Given the description of an element on the screen output the (x, y) to click on. 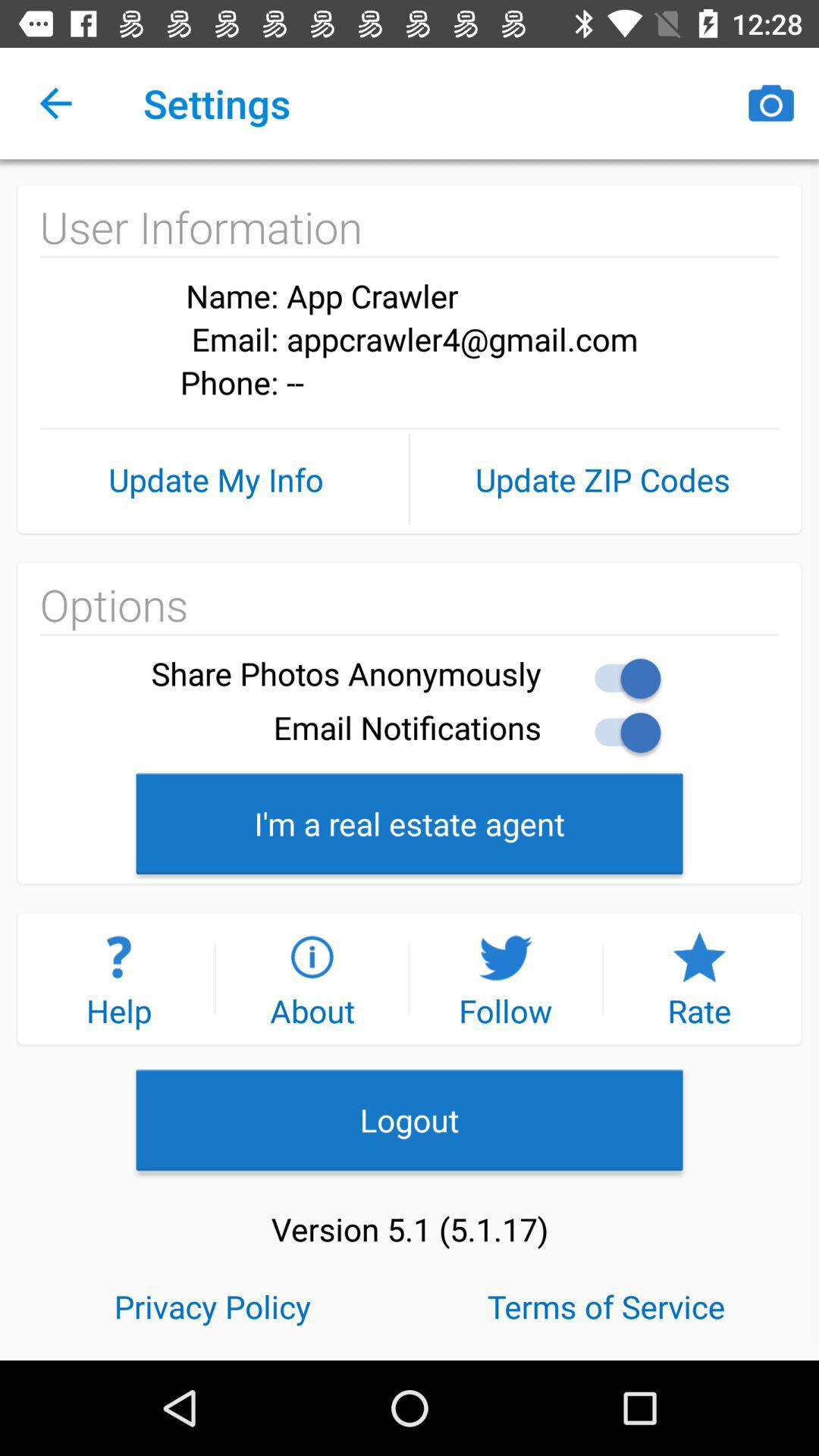
click item above the logout icon (312, 978)
